Given the description of an element on the screen output the (x, y) to click on. 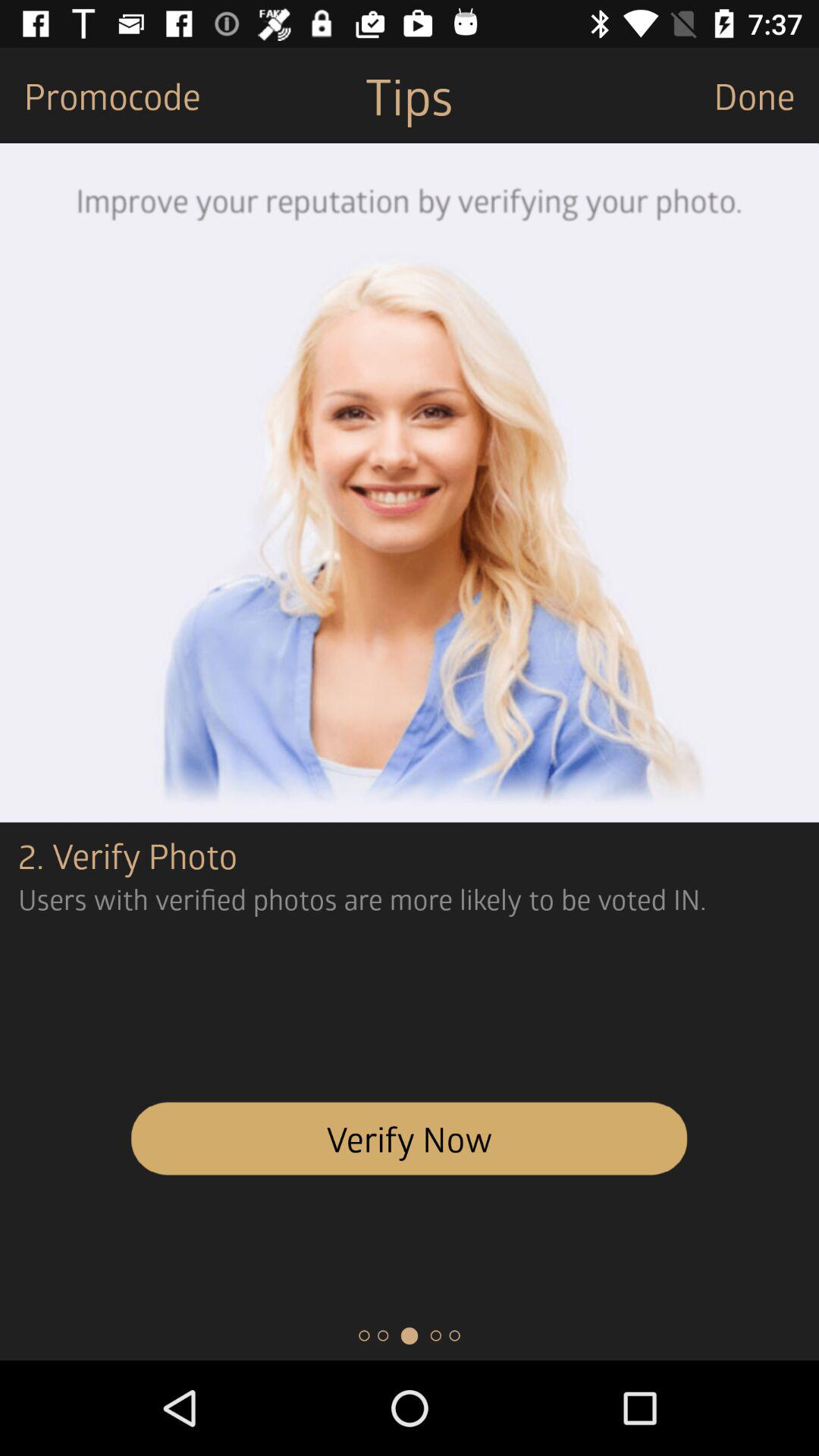
jump until done icon (766, 95)
